Given the description of an element on the screen output the (x, y) to click on. 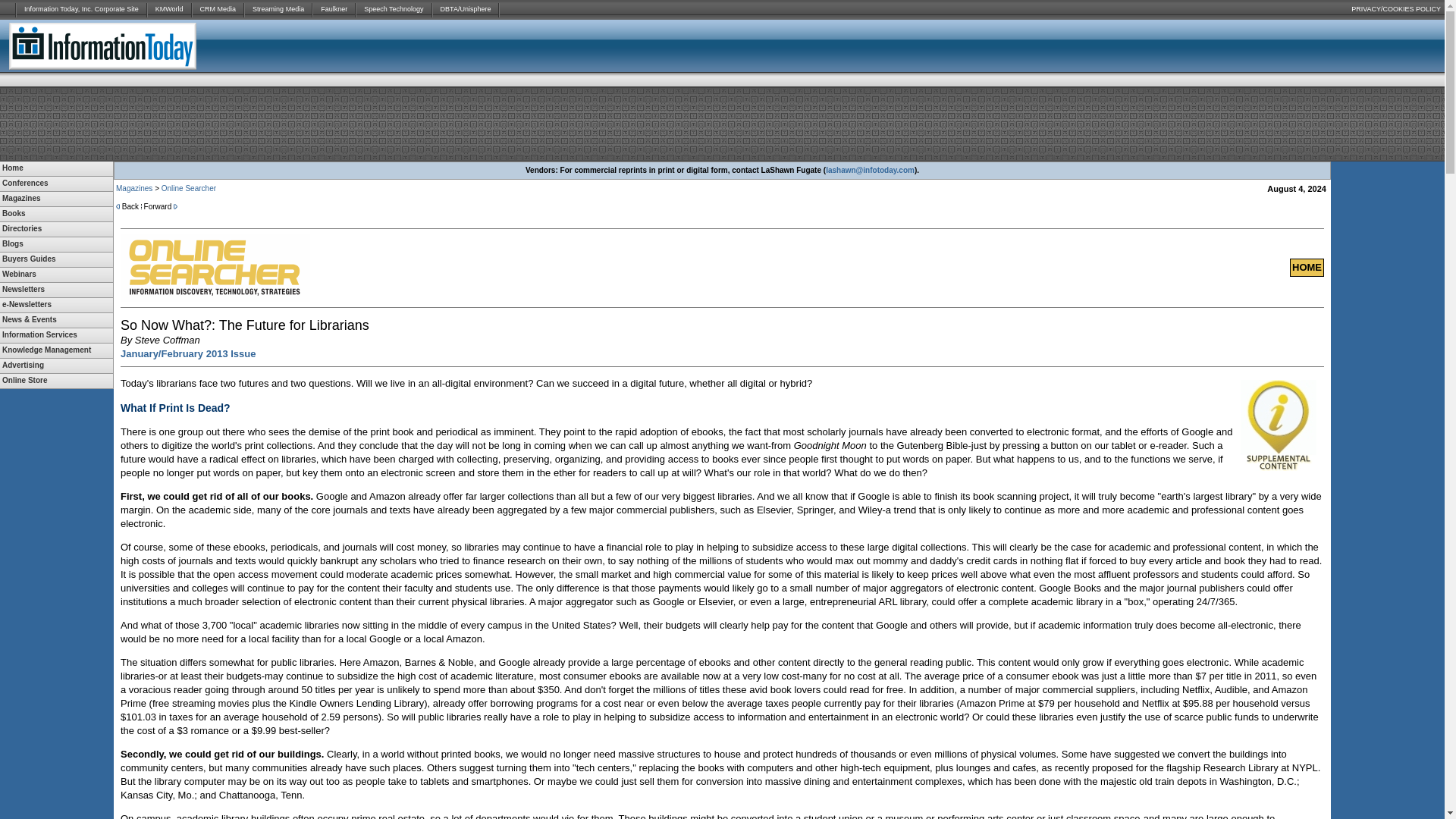
Streaming Media (277, 9)
Speech Technology (393, 9)
Click to return to table of contents (188, 353)
Online Searcher Home (1307, 266)
Faulkner (334, 9)
Magazines (56, 198)
Conferences (56, 183)
KMWorld (169, 9)
CRM Media (218, 9)
Home (56, 168)
Information Today, Inc. Corporate Site (81, 9)
